Given the description of an element on the screen output the (x, y) to click on. 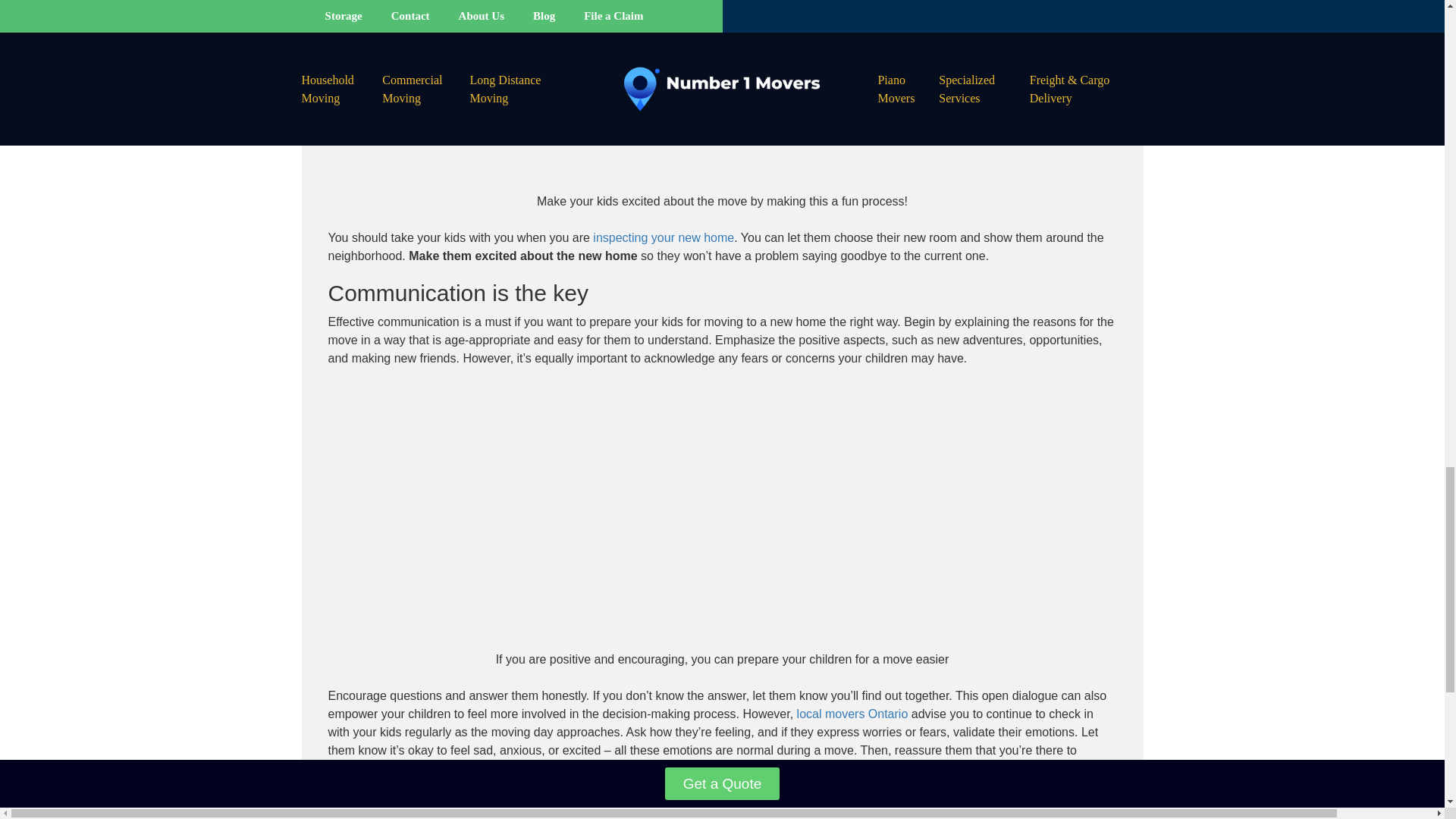
inspecting your new home (662, 237)
local movers Ontario (852, 713)
